Given the description of an element on the screen output the (x, y) to click on. 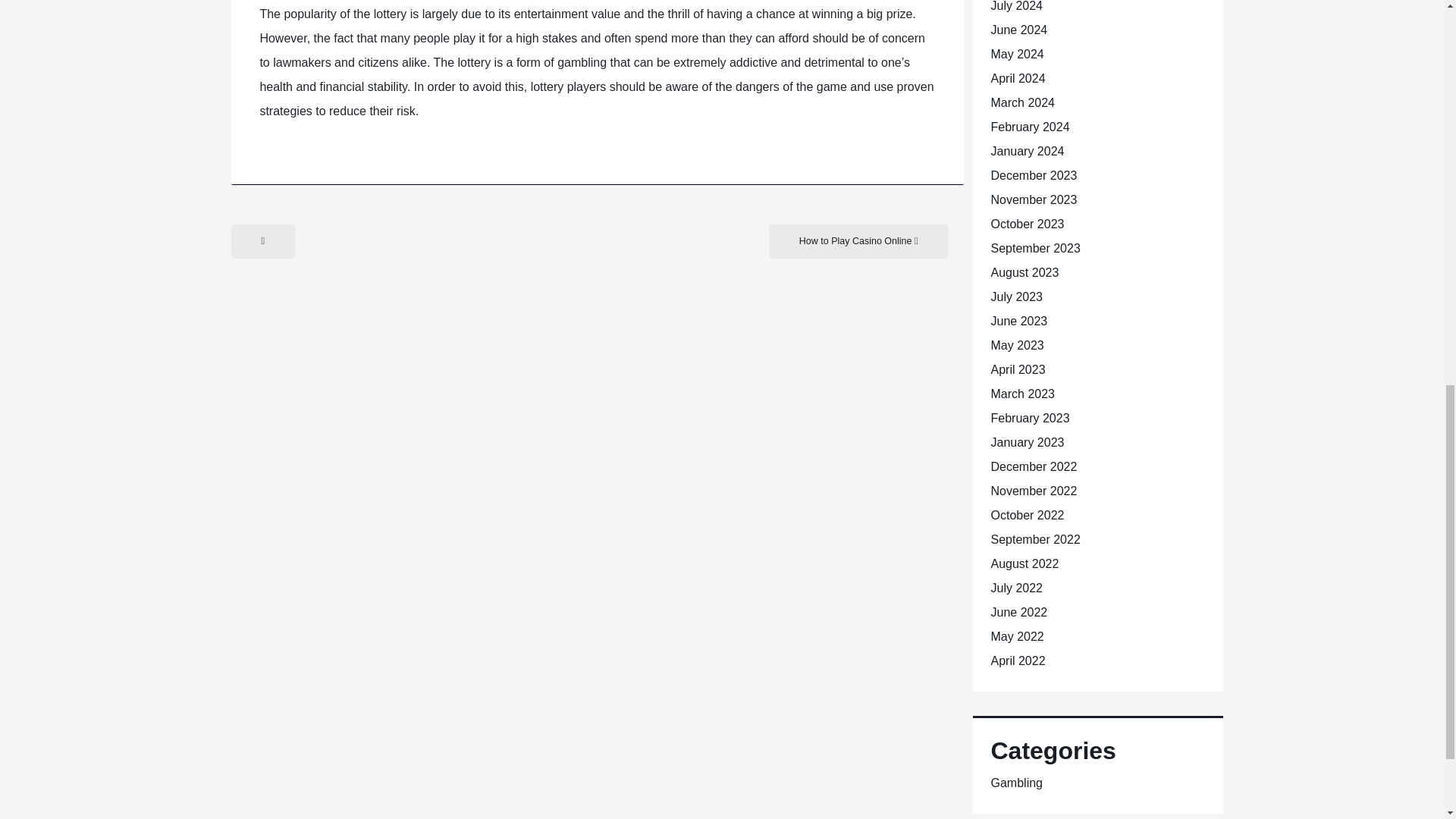
February 2023 (1029, 418)
How to Play Casino Online (858, 241)
October 2022 (1027, 514)
April 2024 (1017, 78)
December 2023 (1033, 174)
February 2024 (1029, 126)
August 2022 (1024, 563)
May 2023 (1016, 345)
March 2024 (1022, 102)
December 2022 (1033, 466)
September 2022 (1035, 539)
November 2023 (1033, 199)
January 2023 (1027, 441)
July 2024 (1016, 6)
June 2024 (1018, 29)
